Given the description of an element on the screen output the (x, y) to click on. 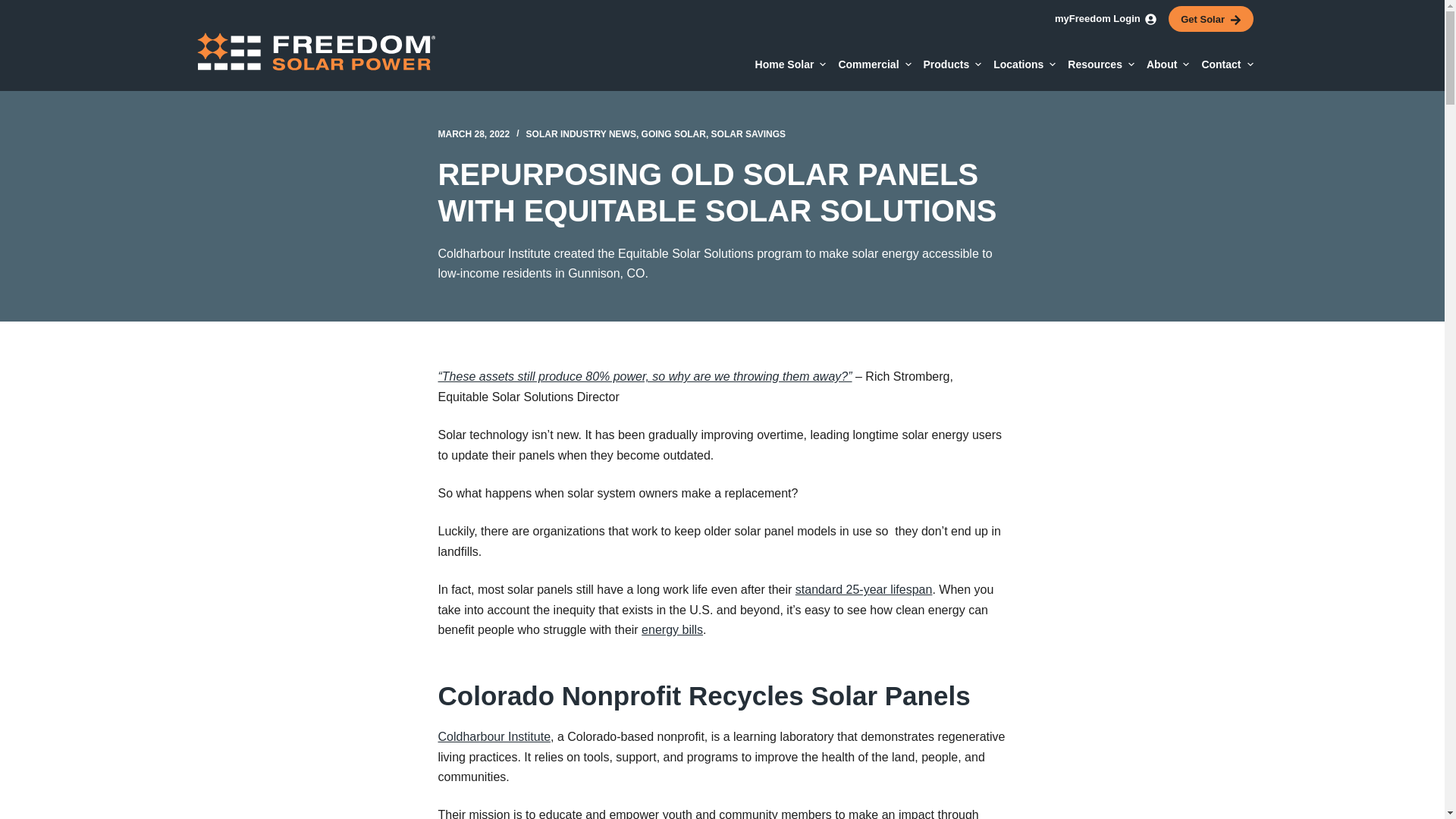
Skip to content (15, 7)
Repurposing Old Solar Panels With Equitable Solar Solutions (722, 192)
